Given the description of an element on the screen output the (x, y) to click on. 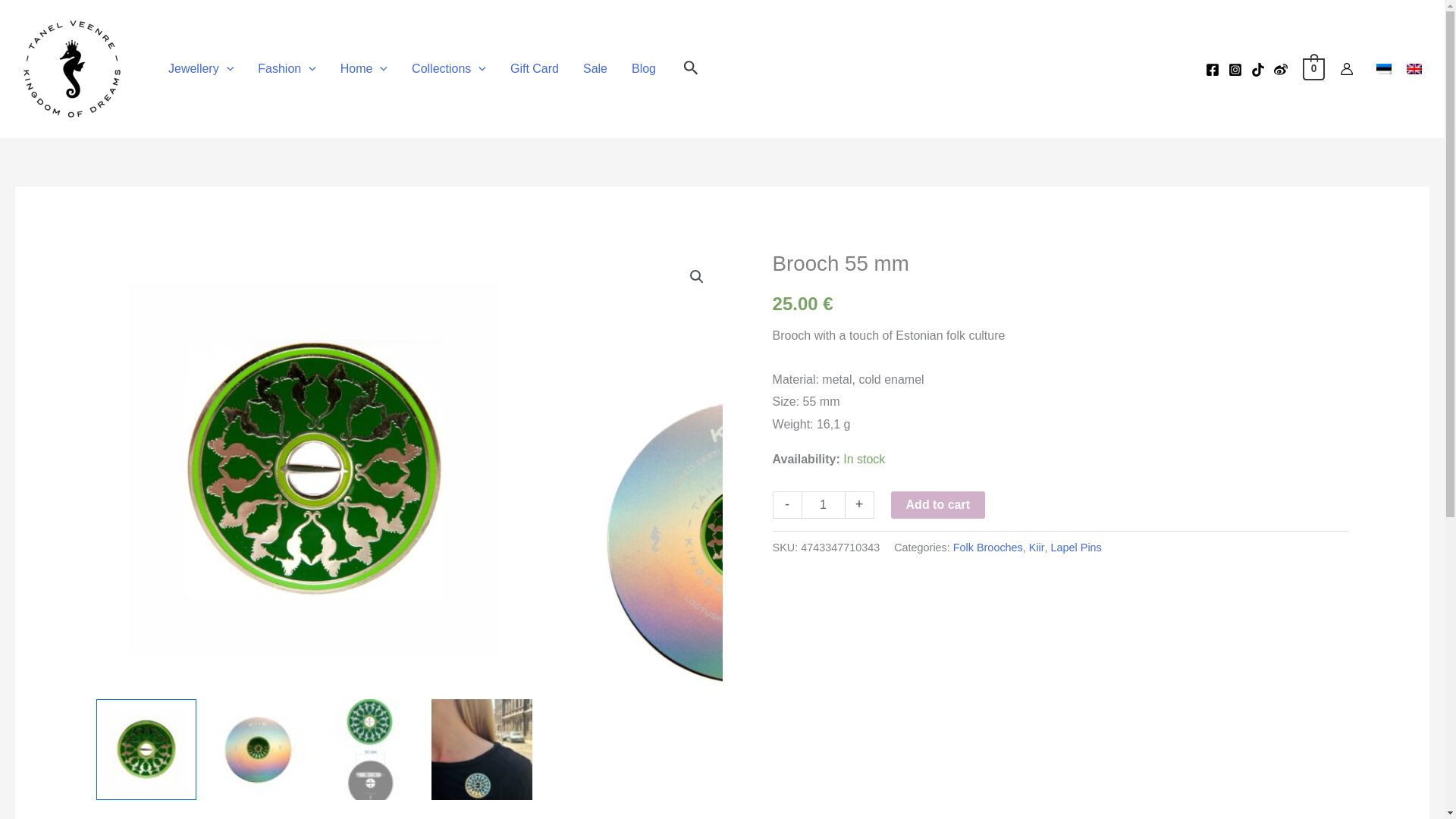
1 (823, 504)
Jewellery (200, 68)
Fashion (287, 68)
Collections (447, 68)
Home (363, 68)
